Given the description of an element on the screen output the (x, y) to click on. 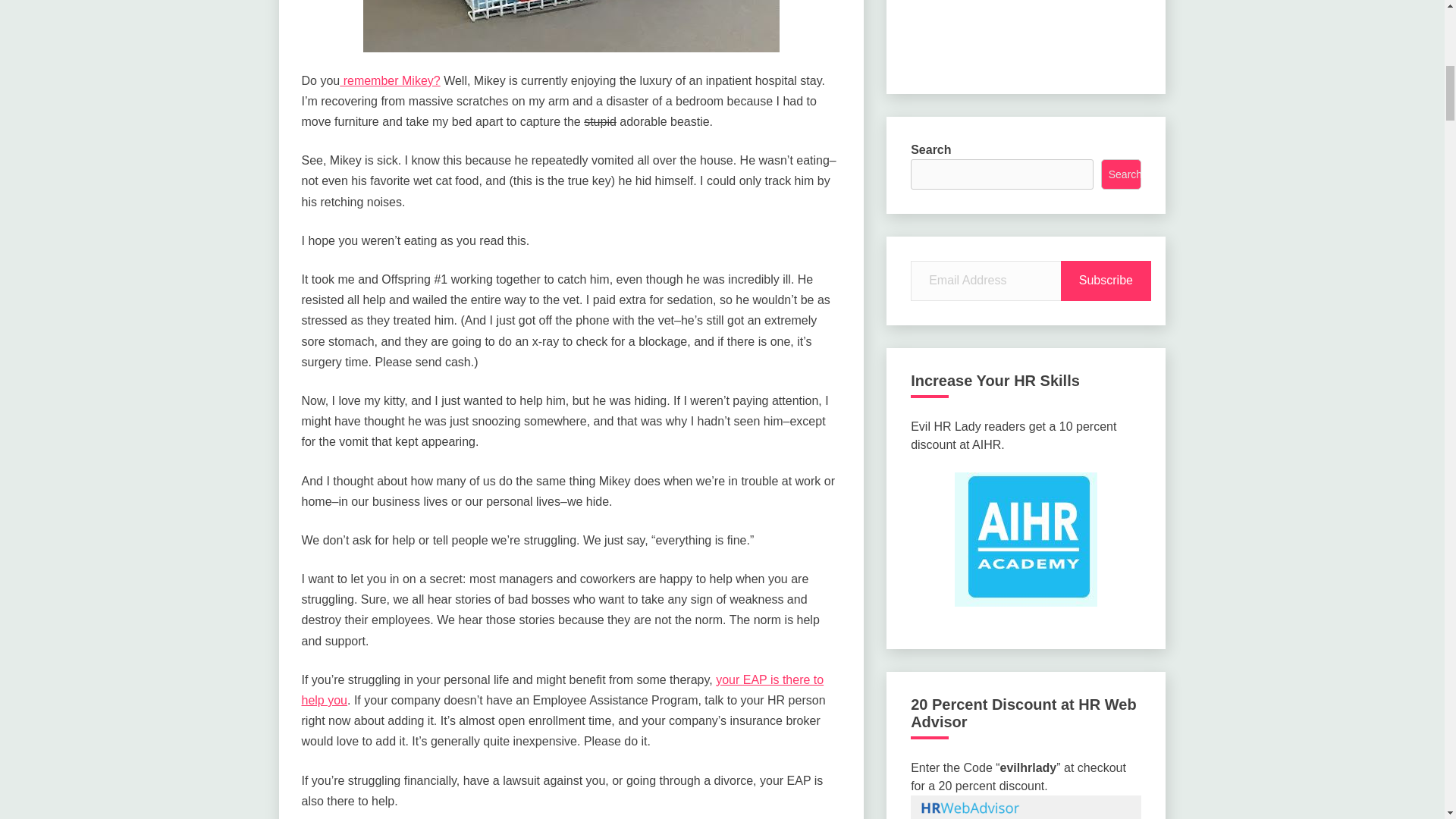
 remember Mikey? (389, 80)
Subscribe (1106, 281)
Search (1120, 173)
Please fill in this field. (986, 281)
your EAP is there to help you (562, 689)
